Given the description of an element on the screen output the (x, y) to click on. 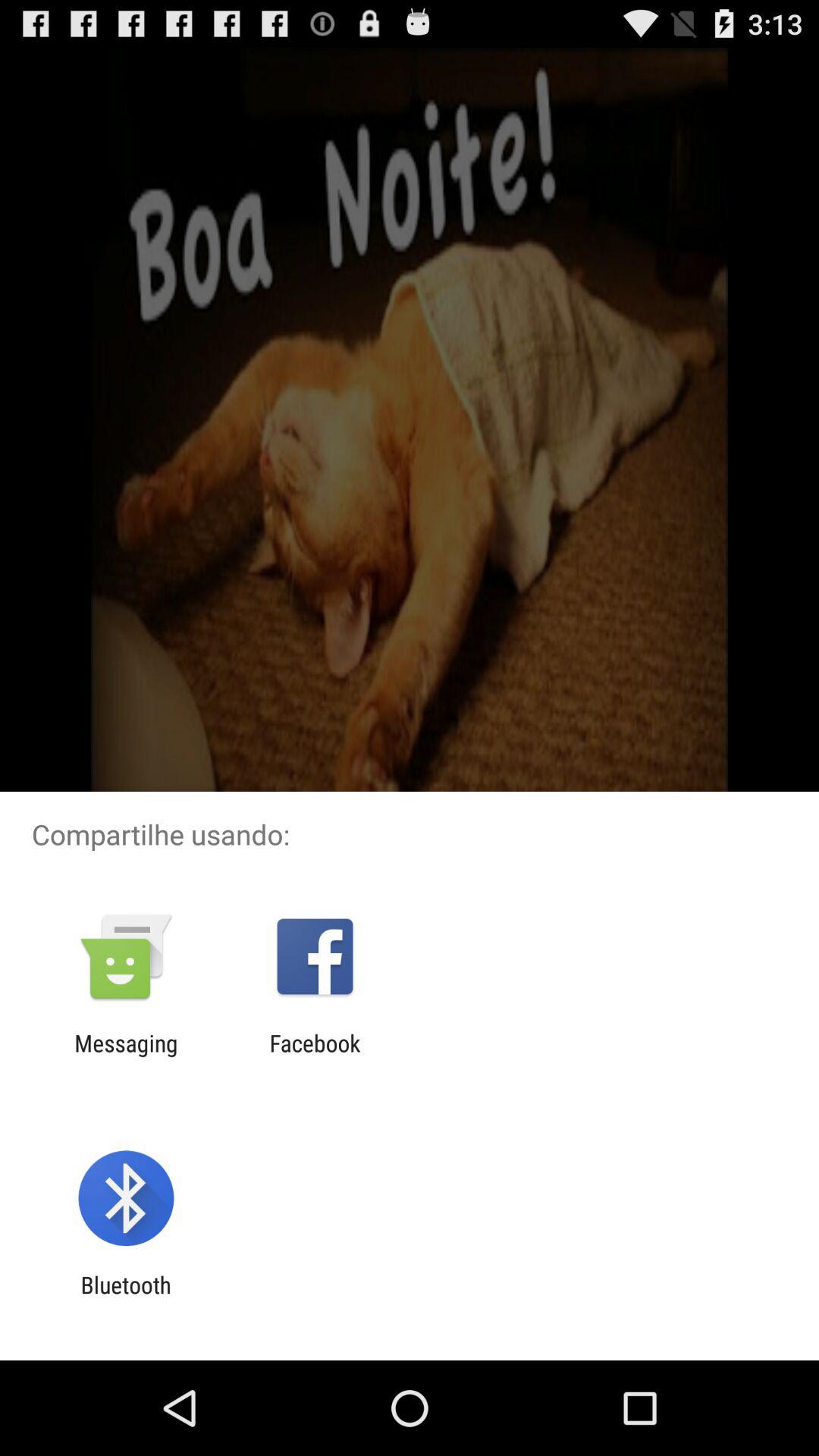
flip to the facebook item (314, 1056)
